Given the description of an element on the screen output the (x, y) to click on. 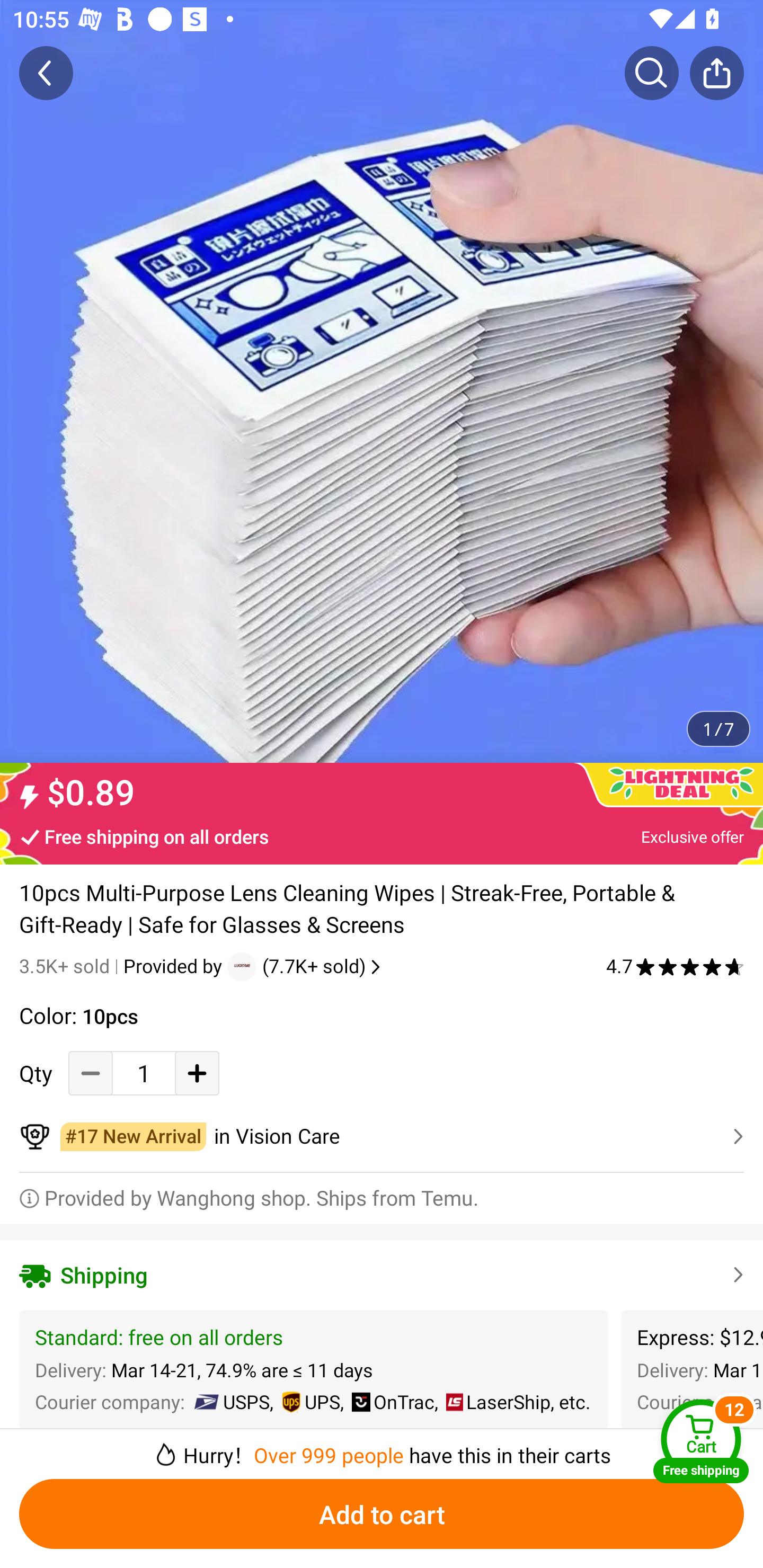
Back (46, 72)
Share (716, 72)
Free shipping on all orders Exclusive offer (381, 836)
3.5K+ sold Provided by  (123, 966)
4.7 (674, 966)
Decrease Quantity Button (90, 1073)
1 (143, 1073)
Add Quantity button (196, 1073)
￼￼in Vision Care (381, 1136)
Shipping (381, 1274)
Cart Free shipping Cart (701, 1440)
￼￼Hurry！Over 999 people have this in their carts (381, 1448)
Add to cart (381, 1513)
